Given the description of an element on the screen output the (x, y) to click on. 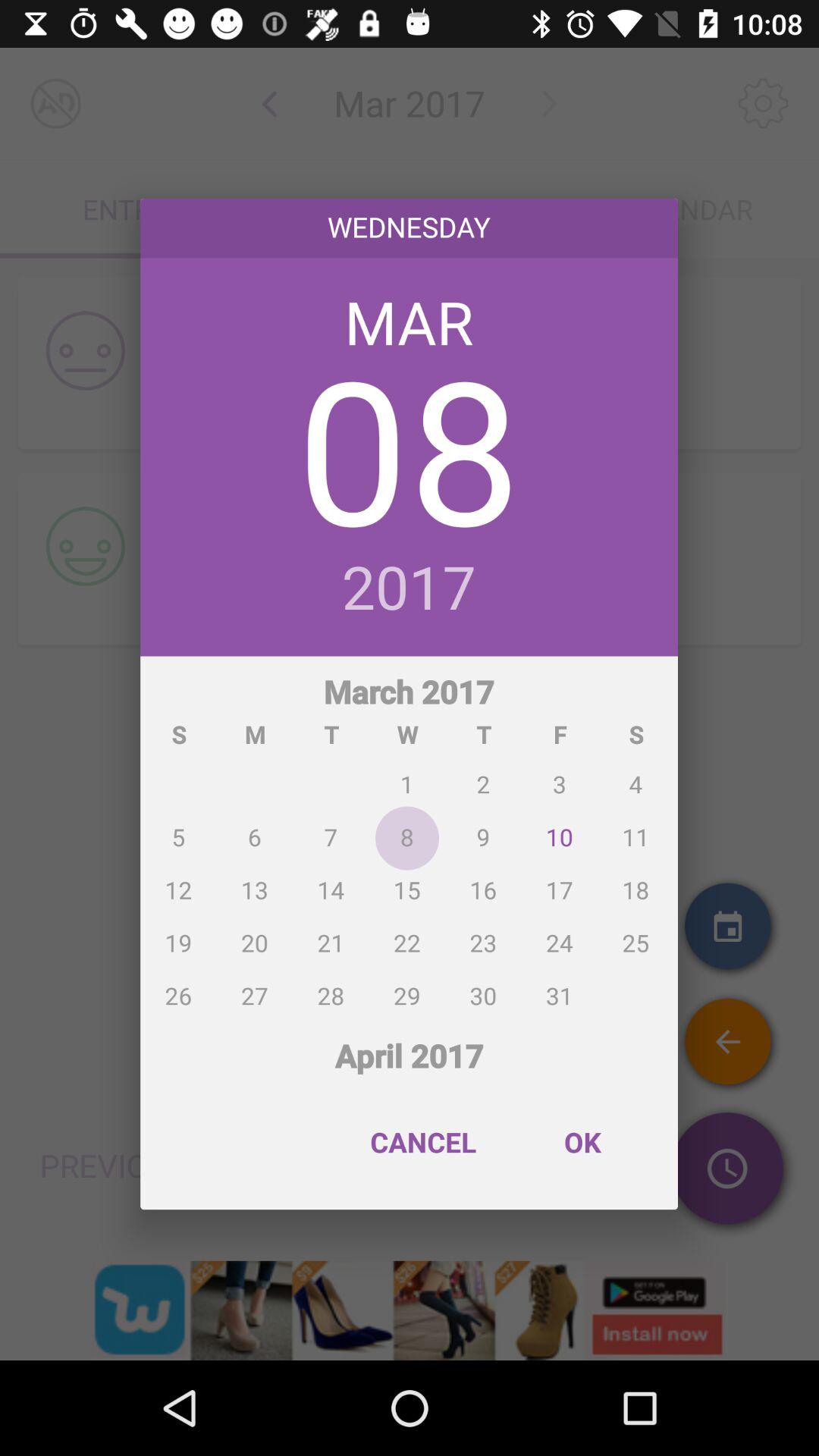
press button to the right of the cancel icon (582, 1141)
